Given the description of an element on the screen output the (x, y) to click on. 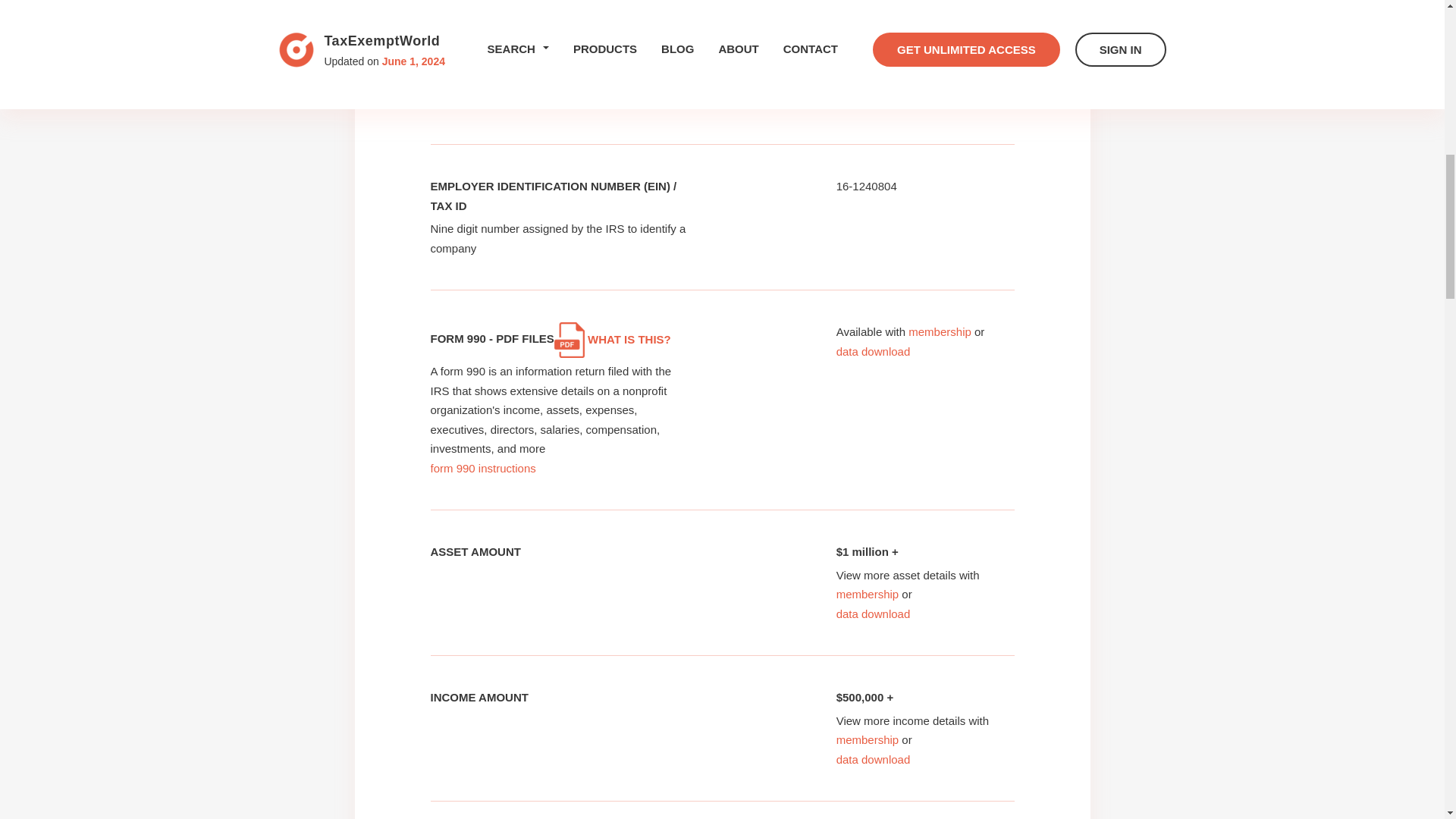
membership (867, 739)
data download (873, 613)
membership (939, 331)
membership (867, 594)
 WHAT IS THIS? (612, 338)
form 990 instructions (482, 468)
data download (873, 350)
